Given the description of an element on the screen output the (x, y) to click on. 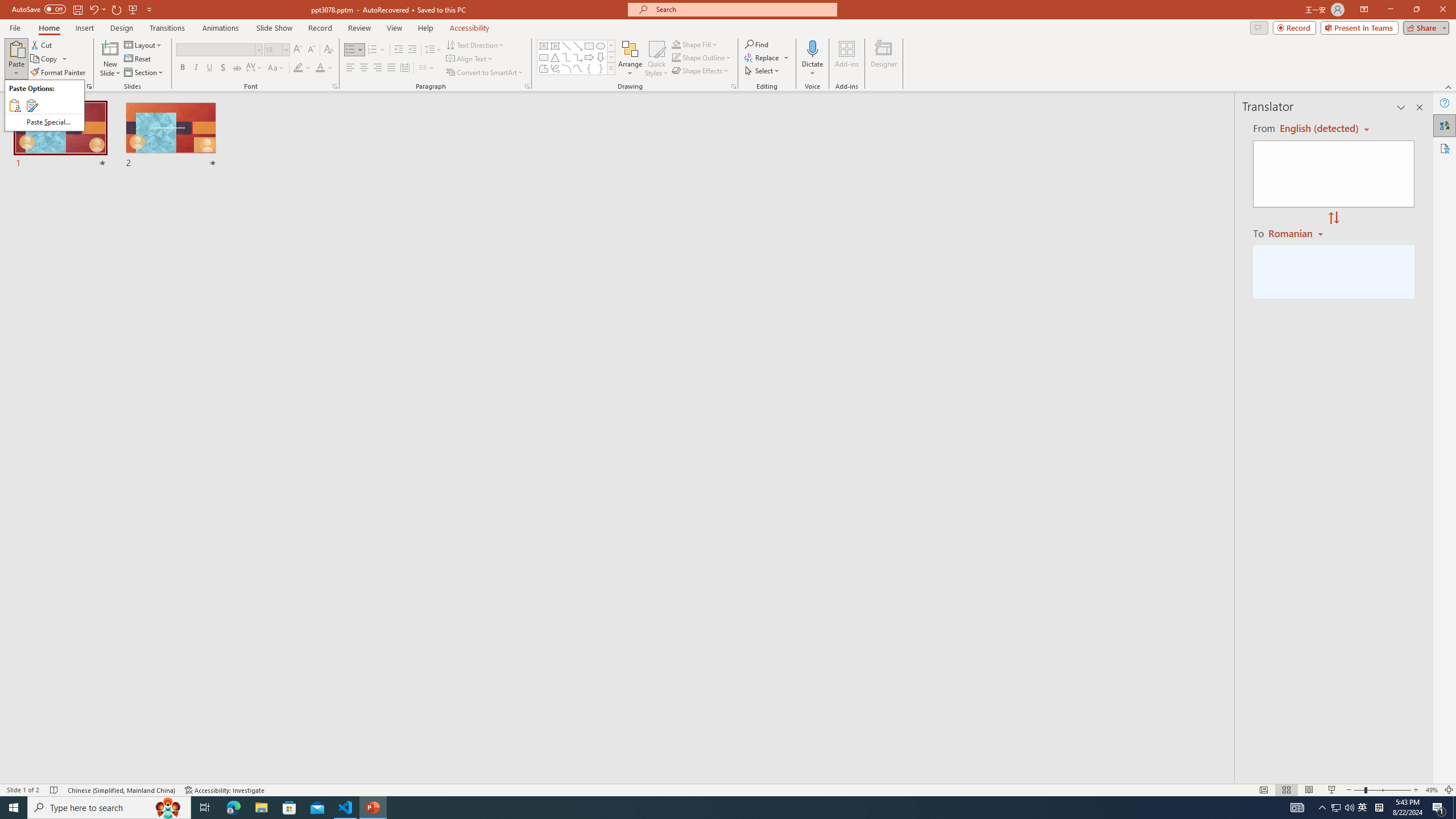
Paste (16, 58)
Quick Styles (656, 58)
Format Object... (733, 85)
Bullets (349, 49)
Search highlights icon opens search home window (167, 807)
Underline (209, 67)
Rectangle: Rounded Corners (543, 57)
Connector: Elbow Arrow (577, 57)
